Given the description of an element on the screen output the (x, y) to click on. 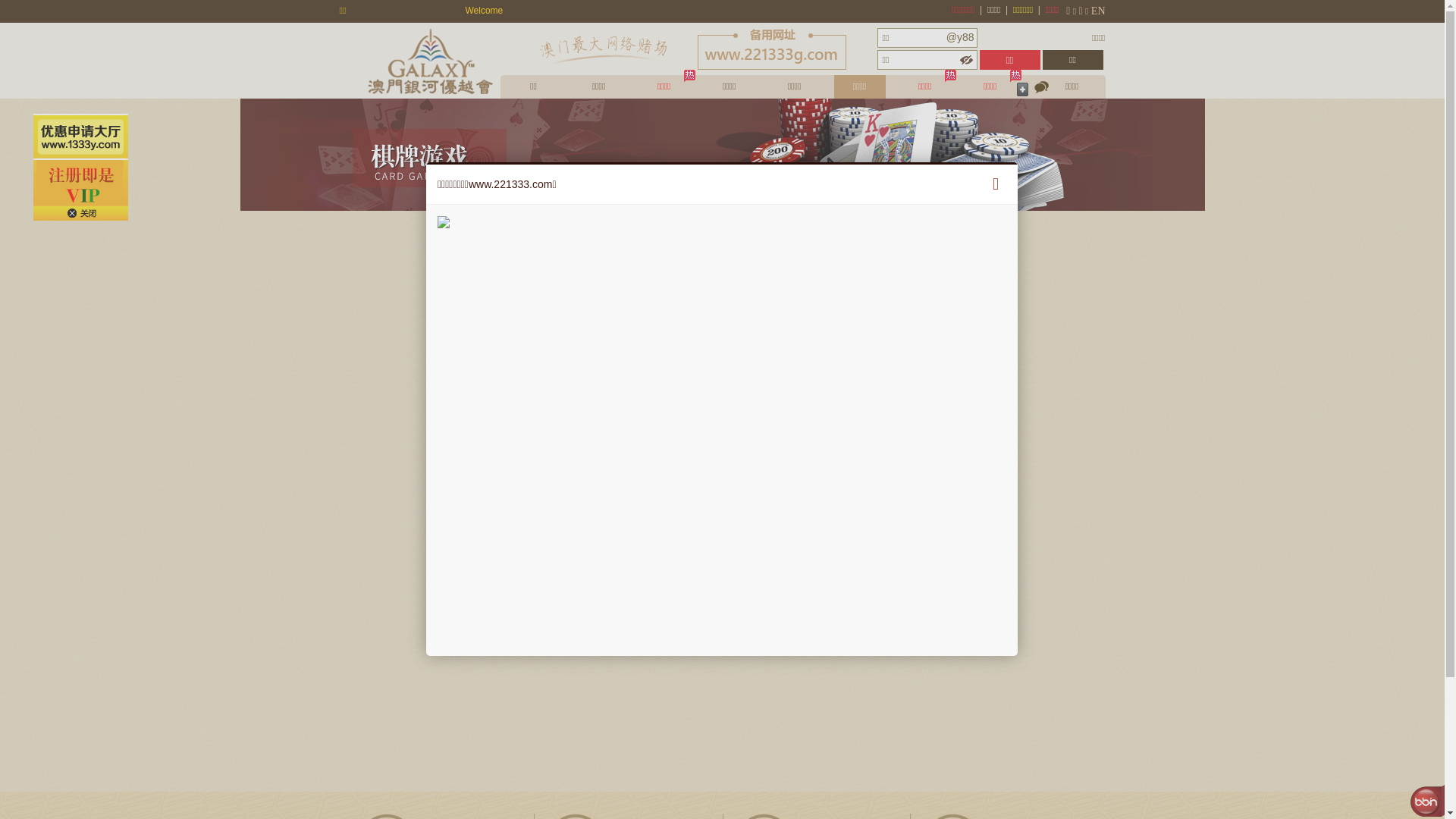
EN Element type: text (1098, 10)
